Given the description of an element on the screen output the (x, y) to click on. 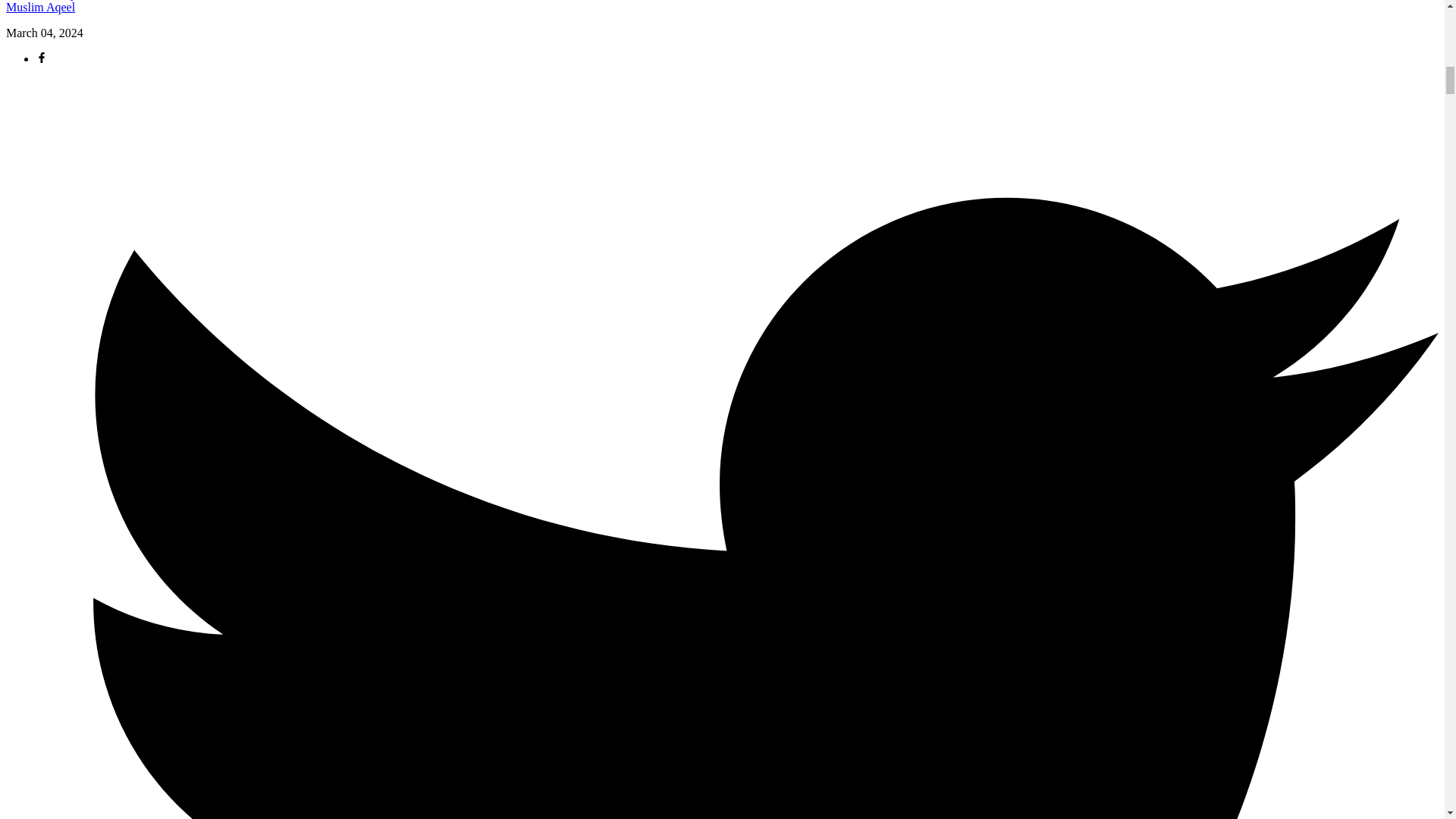
facebook (41, 58)
